Given the description of an element on the screen output the (x, y) to click on. 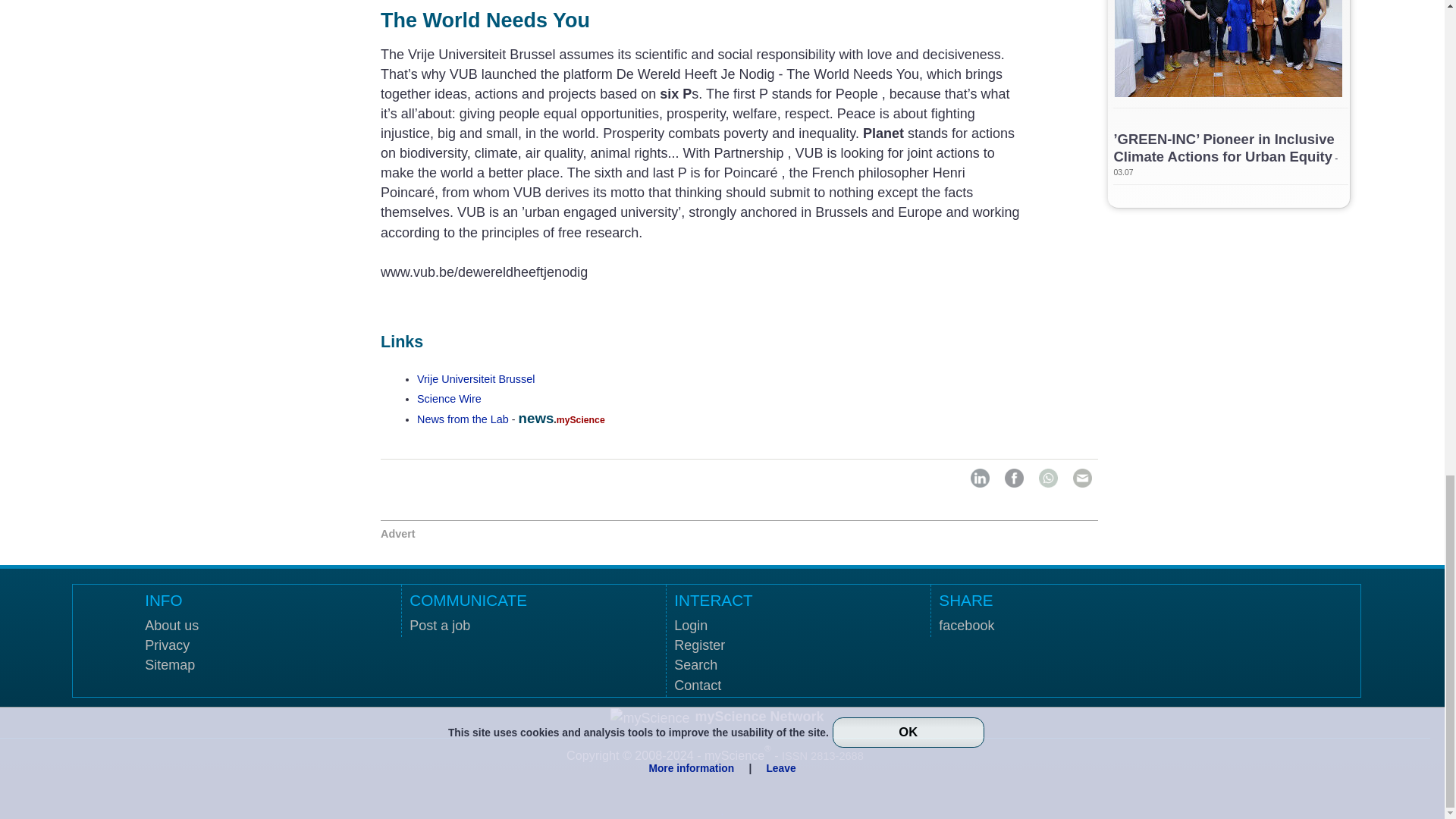
All news and press releases (448, 398)
